Given the description of an element on the screen output the (x, y) to click on. 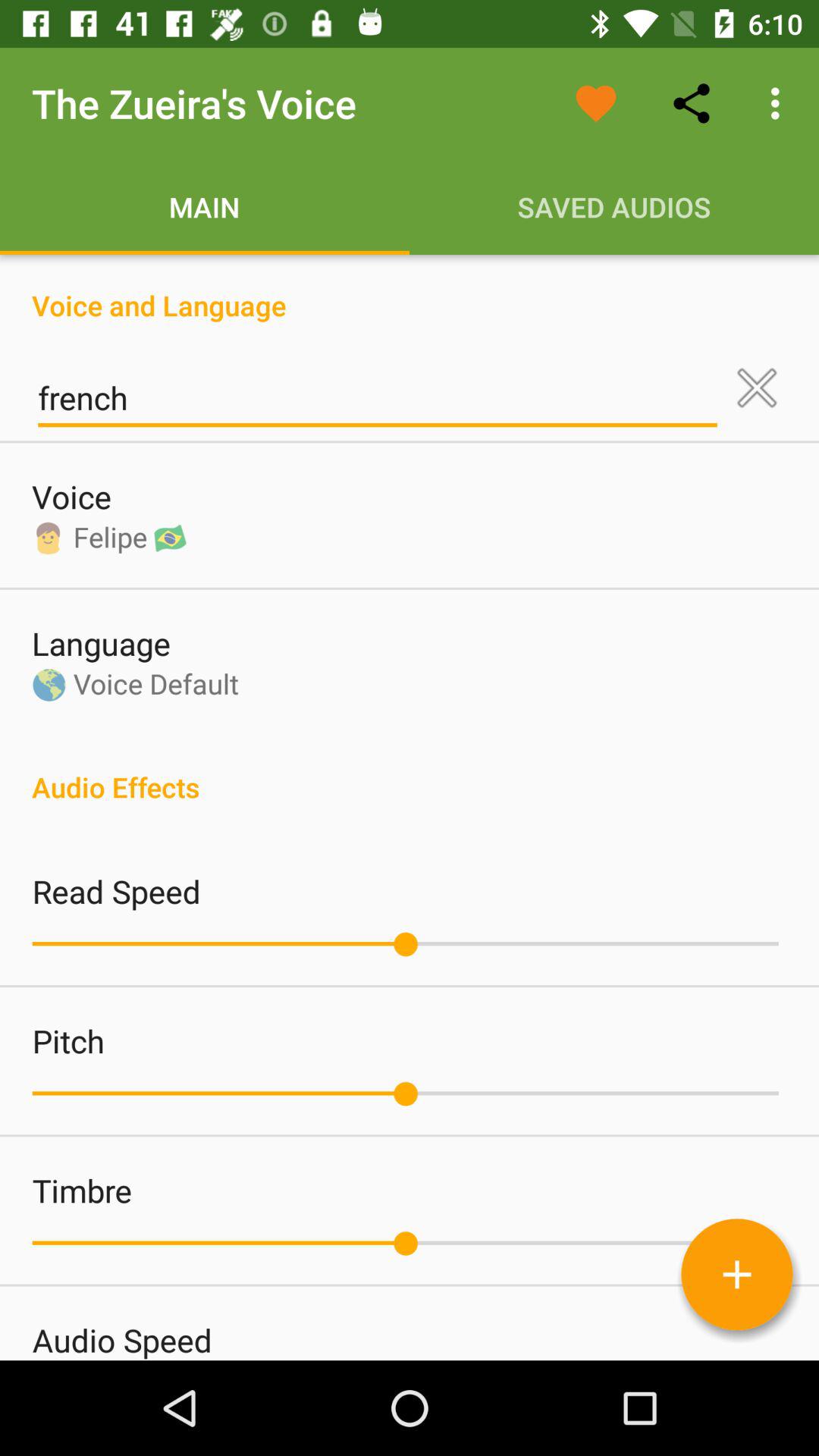
clear selection (756, 387)
